Given the description of an element on the screen output the (x, y) to click on. 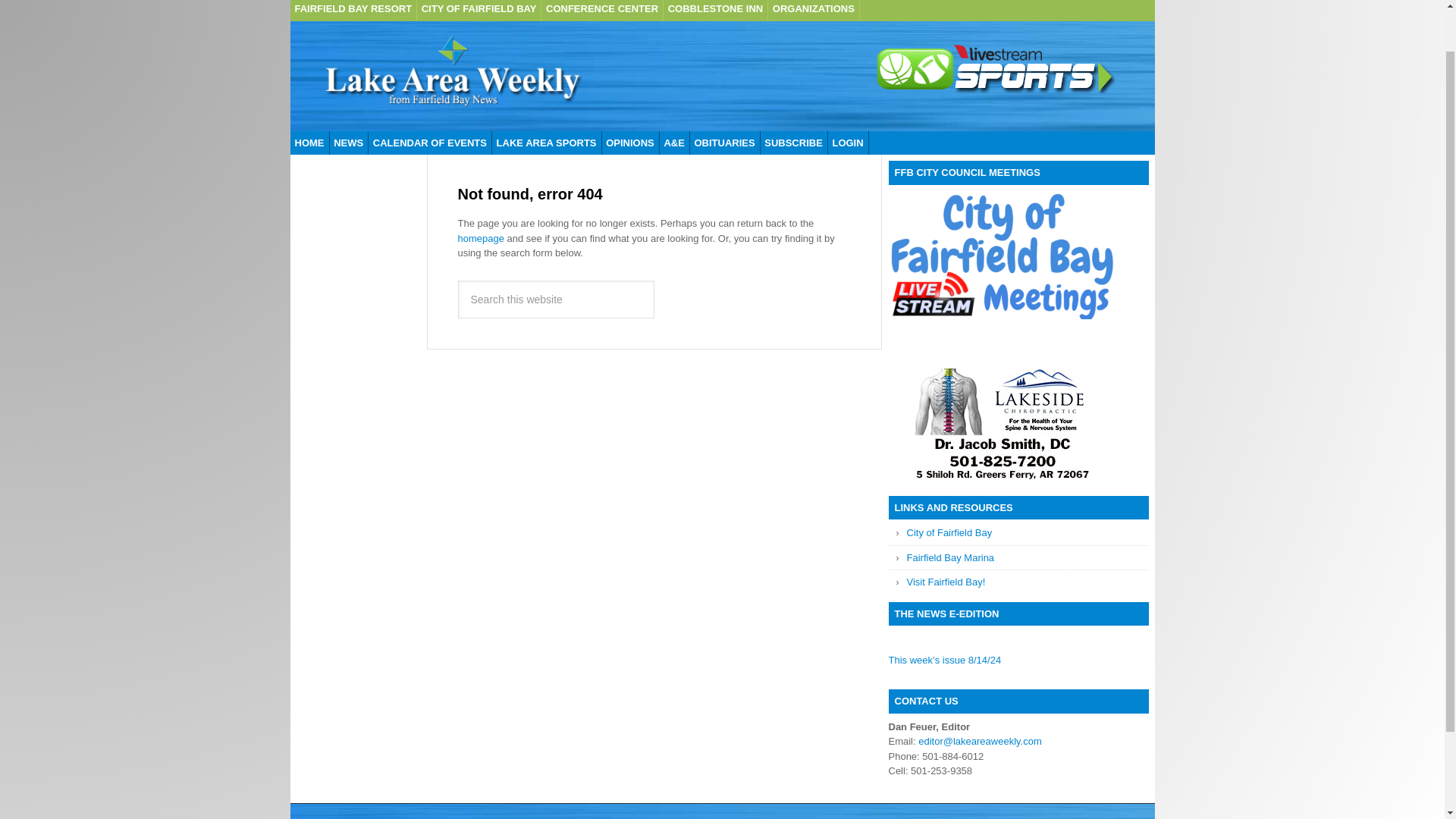
homepage (480, 237)
CITY OF FAIRFIELD BAY (478, 10)
Fairfield Bay Marina (950, 557)
SUBSCRIBE (794, 142)
OBITUARIES (724, 142)
CALENDAR OF EVENTS (430, 142)
LAKE AREA WEEKLY (452, 75)
